Given the description of an element on the screen output the (x, y) to click on. 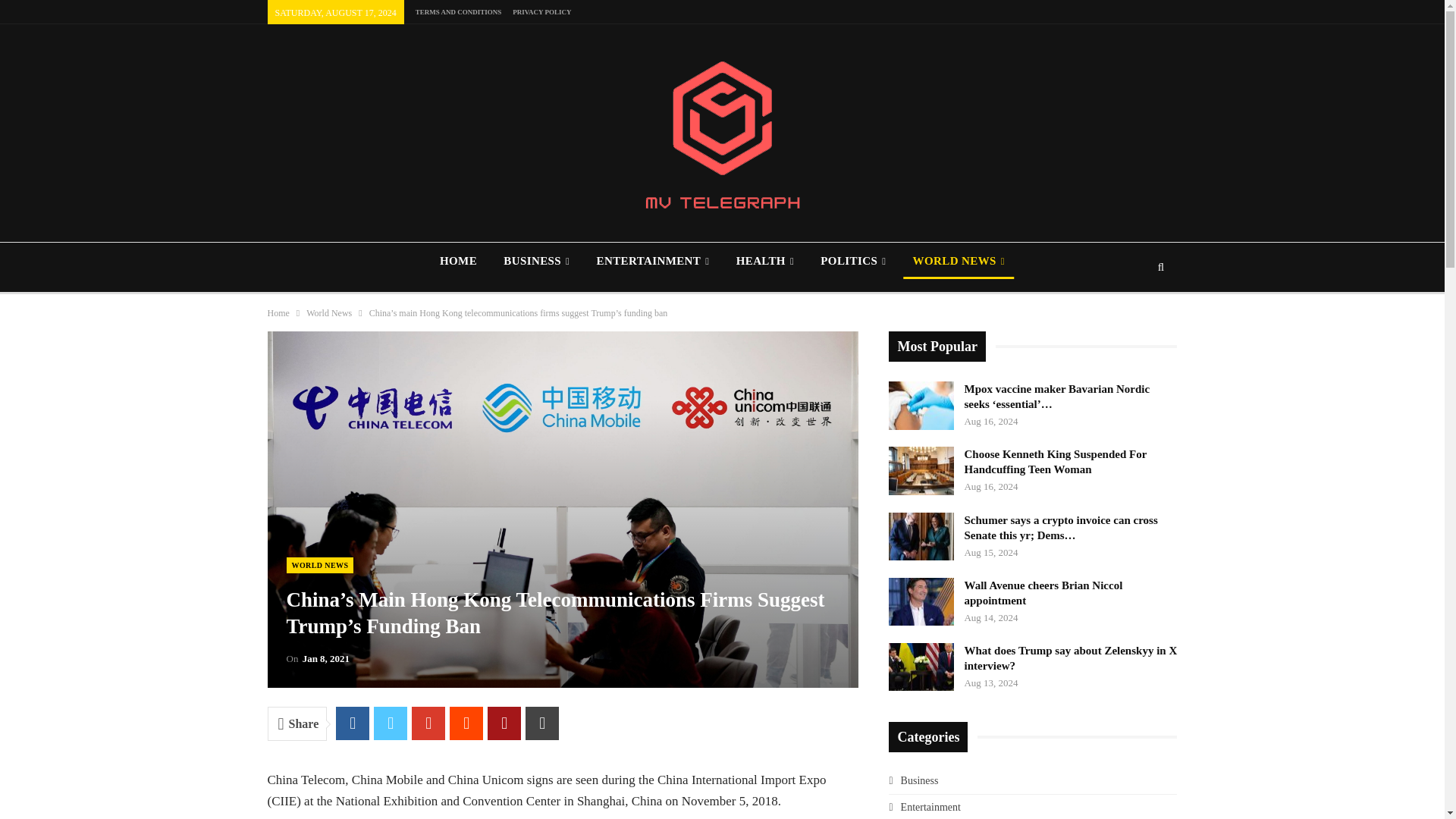
PRIVACY POLICY (541, 11)
HEALTH (764, 260)
ENTERTAINMENT (651, 260)
TERMS AND CONDITIONS (458, 11)
BUSINESS (536, 260)
HOME (458, 260)
